Given the description of an element on the screen output the (x, y) to click on. 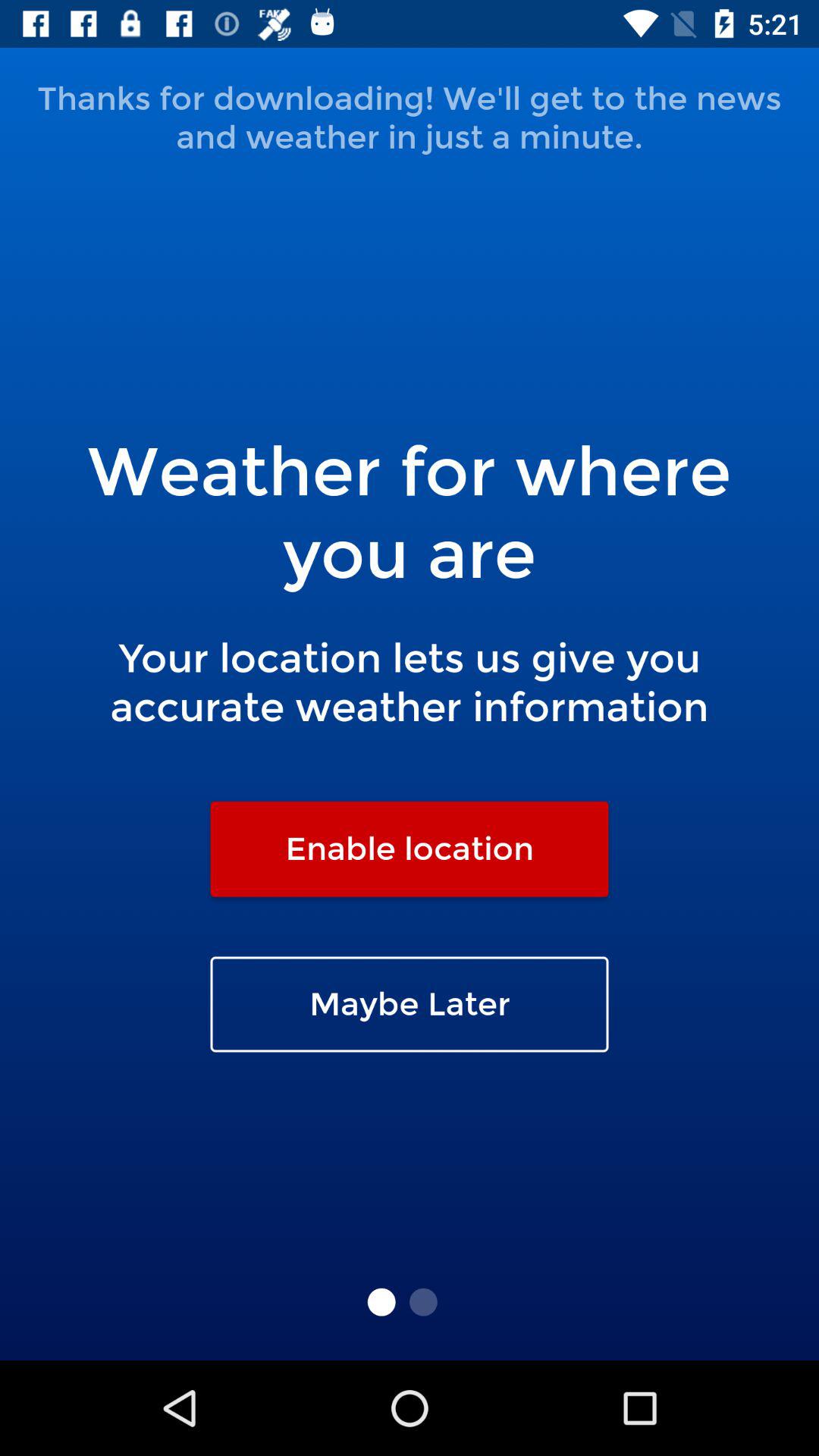
scroll to maybe later (409, 1004)
